Given the description of an element on the screen output the (x, y) to click on. 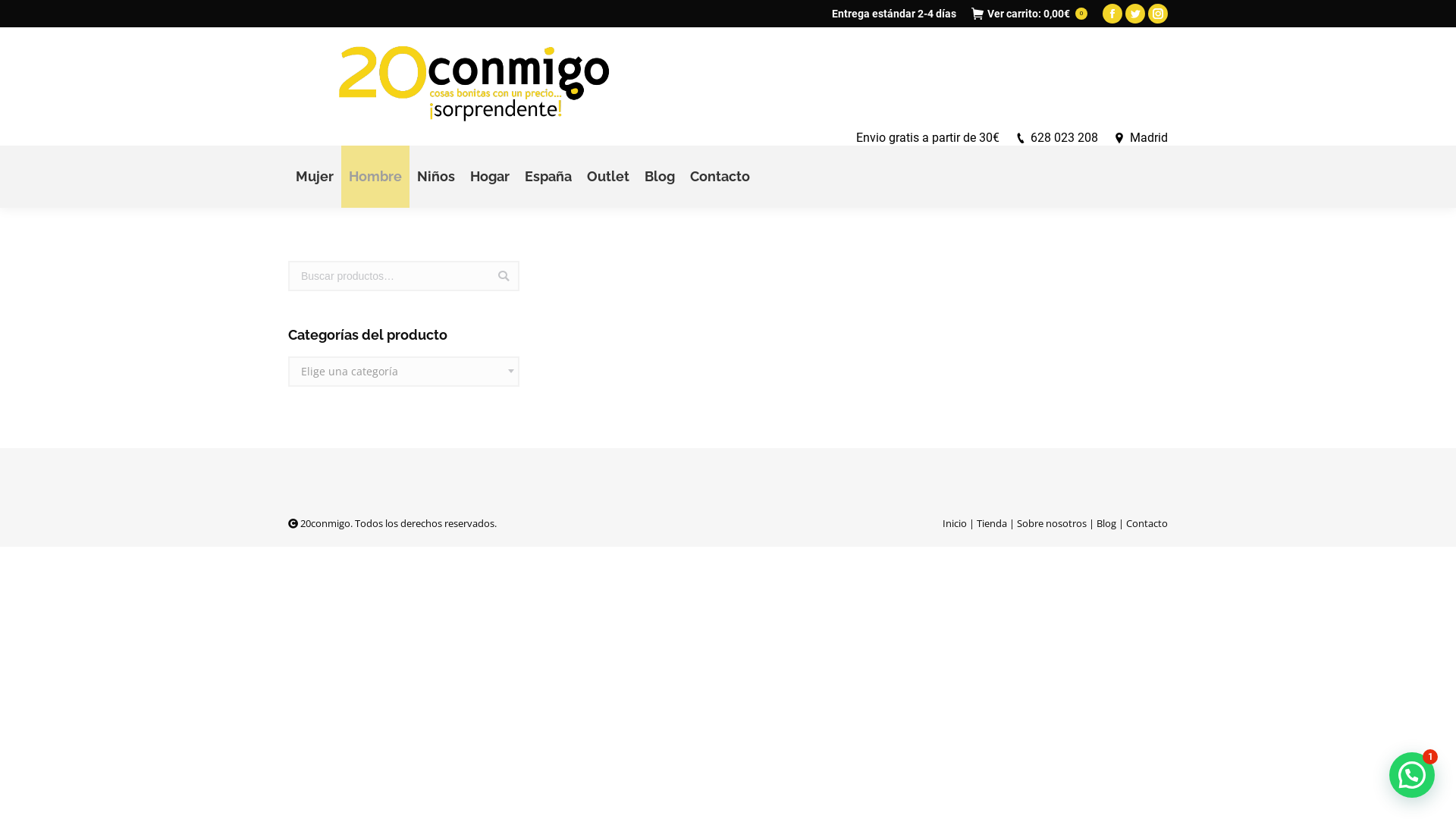
Sobre nosotros Element type: text (1051, 523)
Contacto Element type: text (719, 176)
Hombre Element type: text (375, 176)
Tienda Element type: text (991, 523)
Outlet Element type: text (608, 176)
Twitter Element type: text (1135, 13)
Mujer Element type: text (314, 176)
Buscar Element type: text (503, 275)
Instagram Element type: text (1157, 13)
Hogar Element type: text (489, 176)
Contacto Element type: text (1146, 523)
Blog Element type: text (1106, 523)
Blog Element type: text (659, 176)
Inicio Element type: text (954, 523)
Facebook Element type: text (1112, 13)
